Given the description of an element on the screen output the (x, y) to click on. 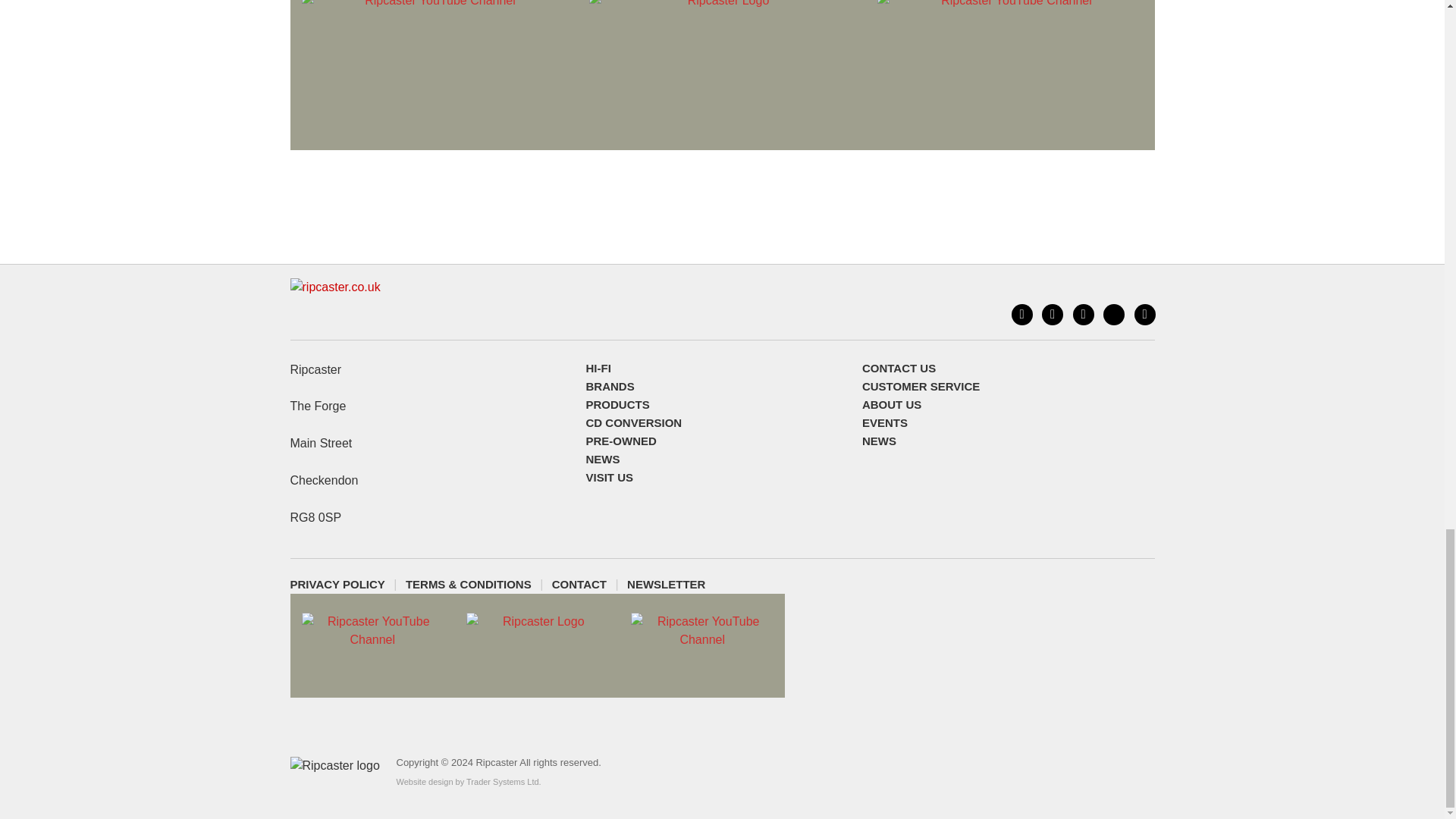
Ripcaster on Twitter (1021, 314)
Ripcaster on Instagram (1083, 314)
Ripcaster on Pintrest (1113, 314)
HiFi Shows and Events 2024 (932, 423)
Ripcaster on Facebook (1052, 314)
Ripcaster YouTube Channel (1145, 314)
